Given the description of an element on the screen output the (x, y) to click on. 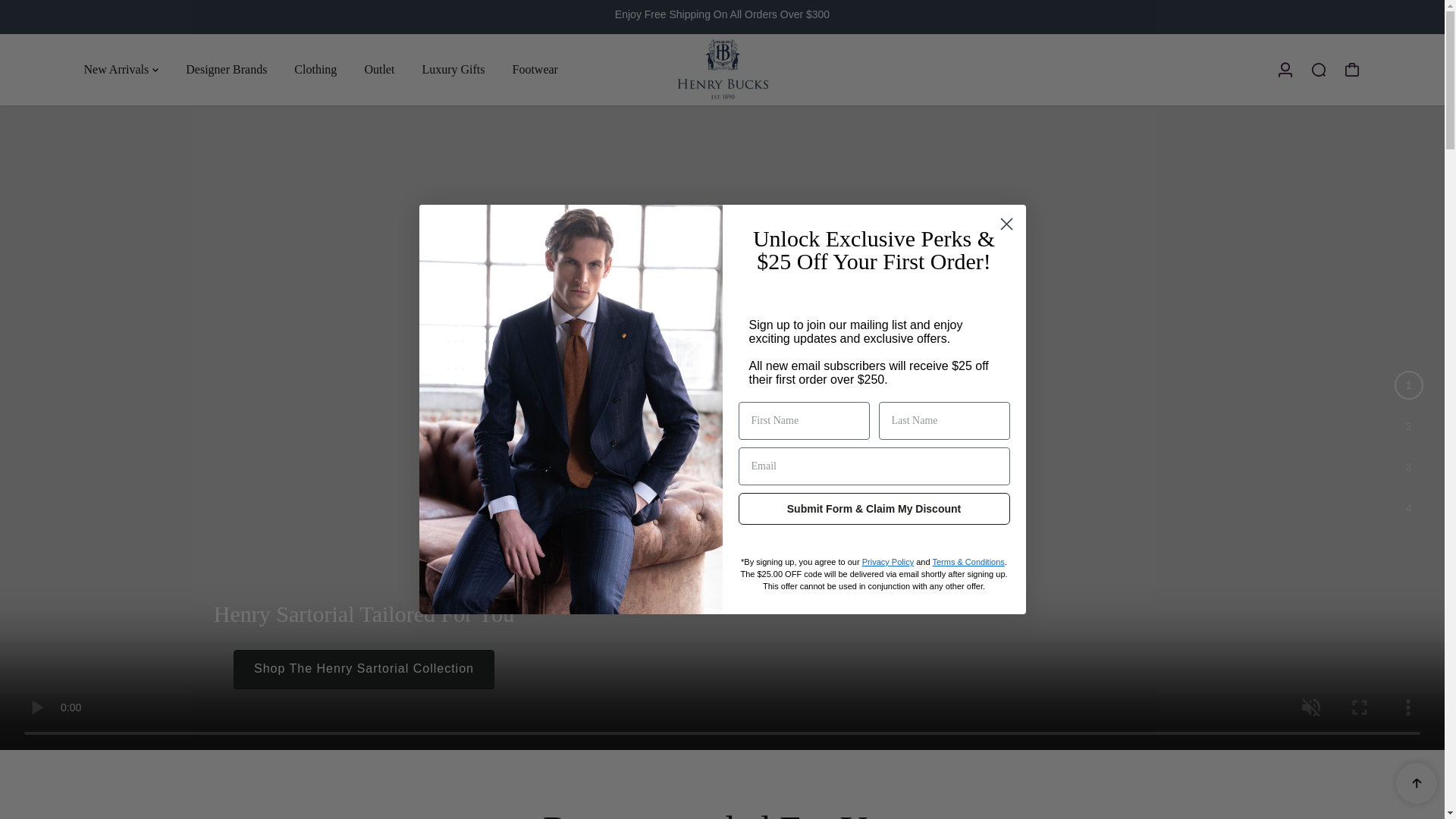
Clothing (315, 69)
Designer Brands (226, 69)
Footwear (534, 69)
Luxury Gifts (452, 69)
Close dialog 1 (1006, 223)
Outlet (379, 69)
New Arrivals (120, 69)
Shop The Henry Sartorial Collection (363, 669)
Log in (1284, 69)
Search (1318, 69)
